Given the description of an element on the screen output the (x, y) to click on. 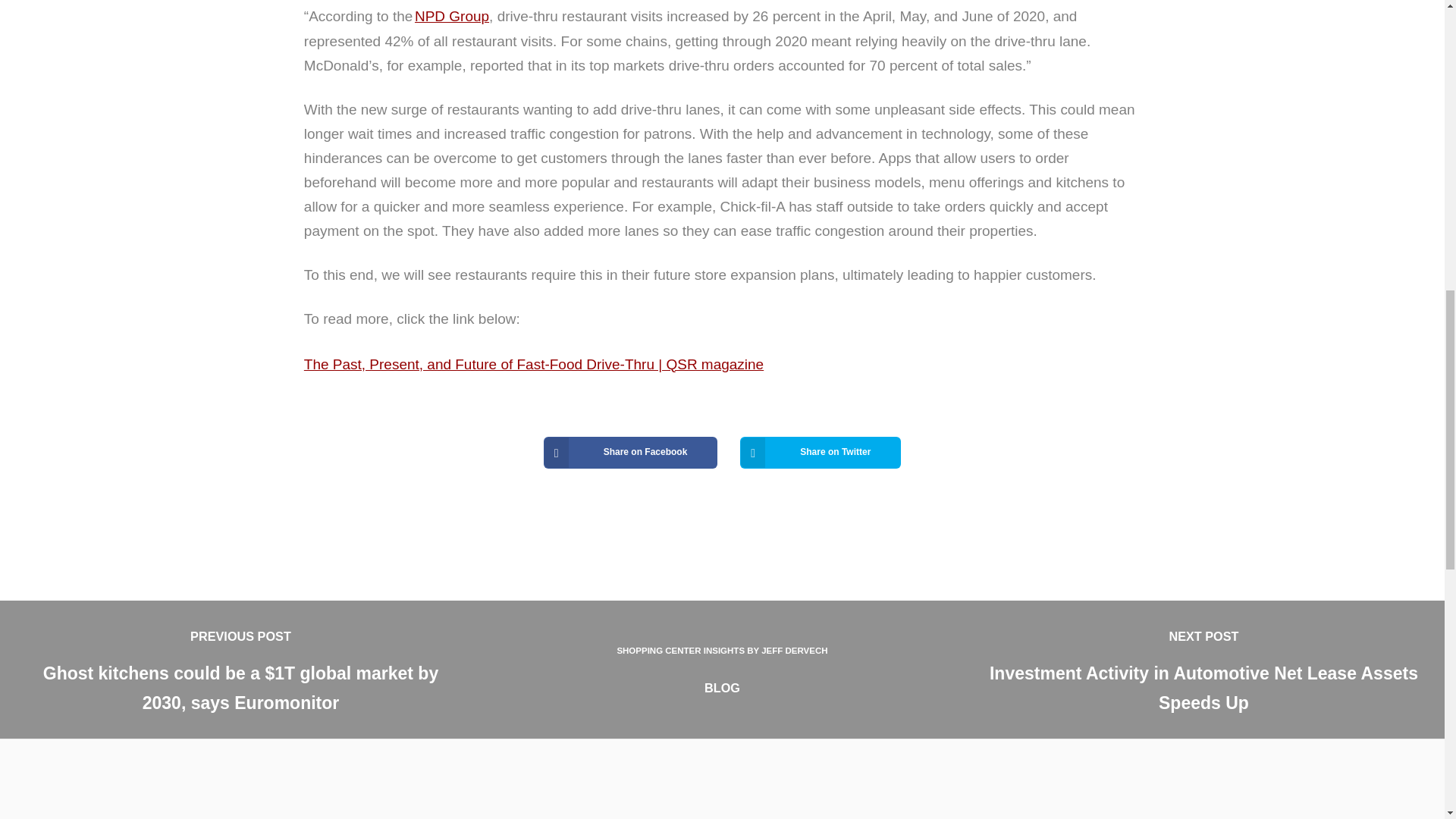
Share on Facebook (630, 452)
NPD Group (451, 16)
Share on Twitter (820, 452)
